Given the description of an element on the screen output the (x, y) to click on. 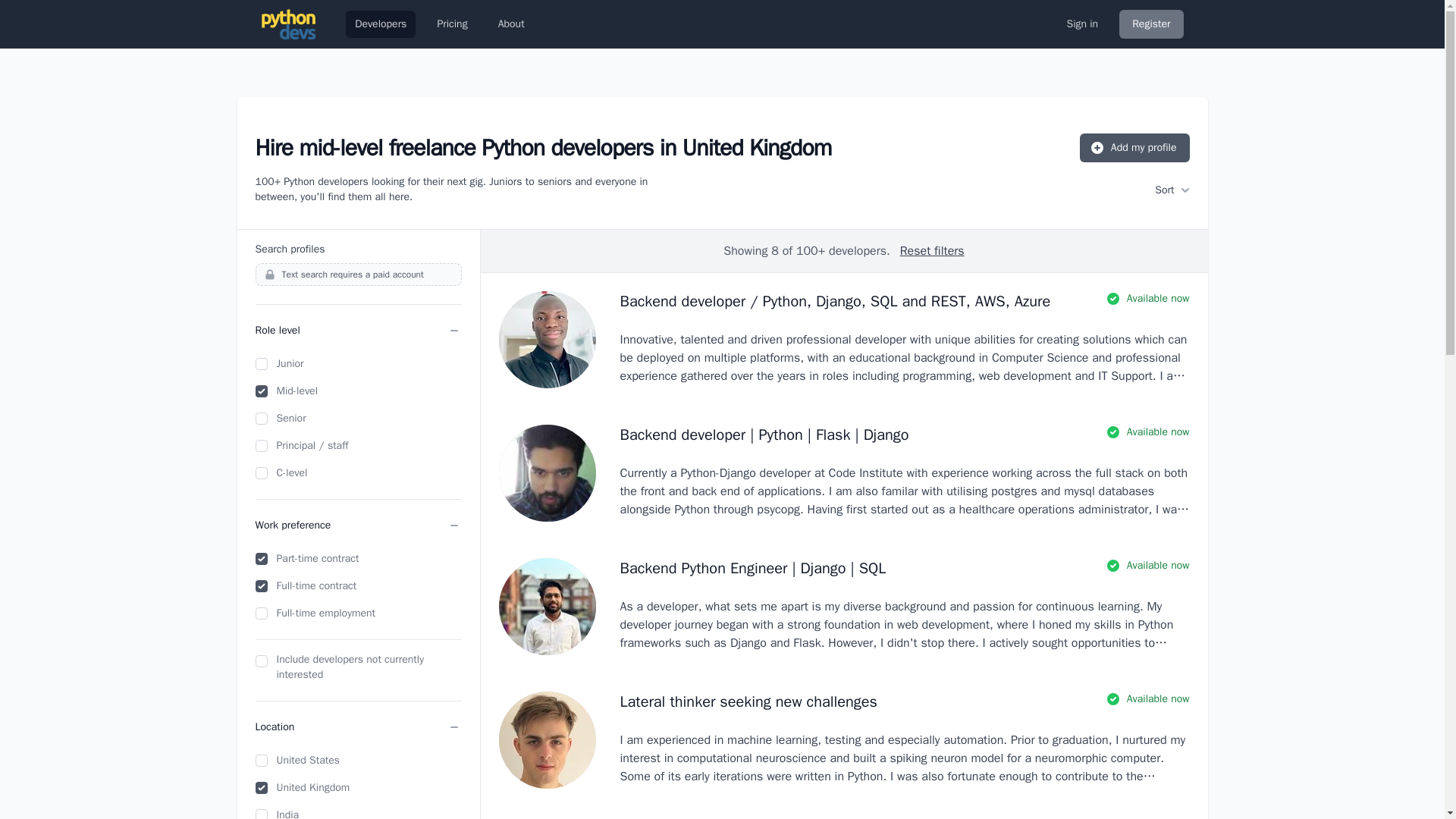
Work preference (357, 525)
1 (260, 661)
PythonDevs (287, 24)
Lateral thinker seeking new challenges (748, 701)
United Kingdom (260, 787)
Role level (357, 330)
mid (260, 390)
senior (260, 418)
Sort (1171, 190)
Pricing (452, 23)
junior (260, 363)
Check Circle (1113, 298)
India (260, 814)
Location (357, 726)
Reset filters (931, 250)
